Given the description of an element on the screen output the (x, y) to click on. 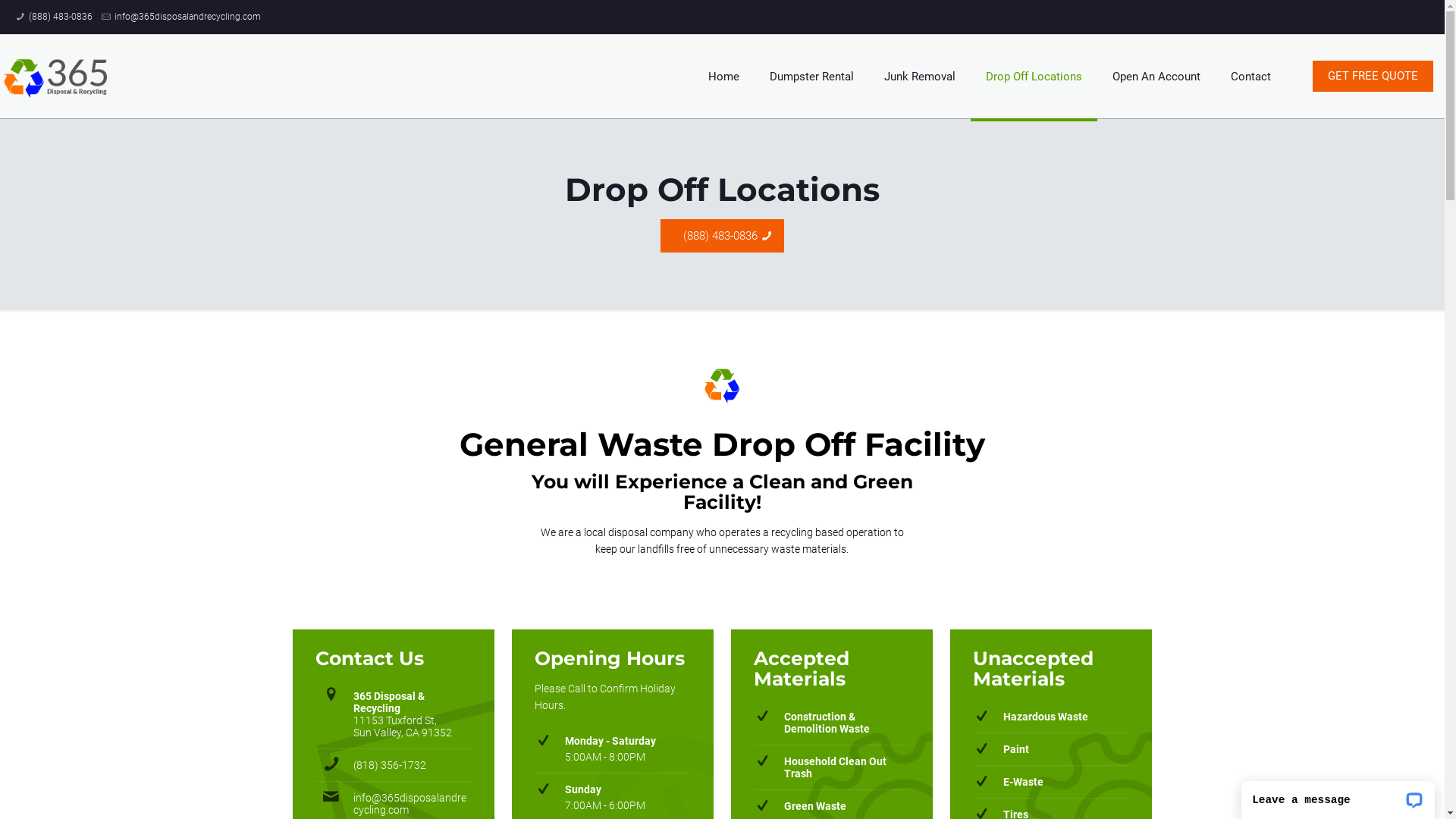
Junk Removal Element type: text (919, 76)
365 Disposal & Recycling Element type: hover (56, 76)
Contact Element type: text (1250, 76)
Open An Account Element type: text (1156, 76)
(888) 483-0836 Element type: text (722, 235)
info@365disposalandrecycling.com Element type: text (409, 803)
Home Element type: text (723, 76)
Dumpster Rental Element type: text (811, 76)
Drop Off Locations Element type: text (1033, 76)
GET FREE QUOTE Element type: text (1372, 75)
(888) 483-0836 Element type: text (60, 16)
info@365disposalandrecycling.com Element type: text (187, 16)
(818) 356-1732 Element type: text (389, 765)
